Given the description of an element on the screen output the (x, y) to click on. 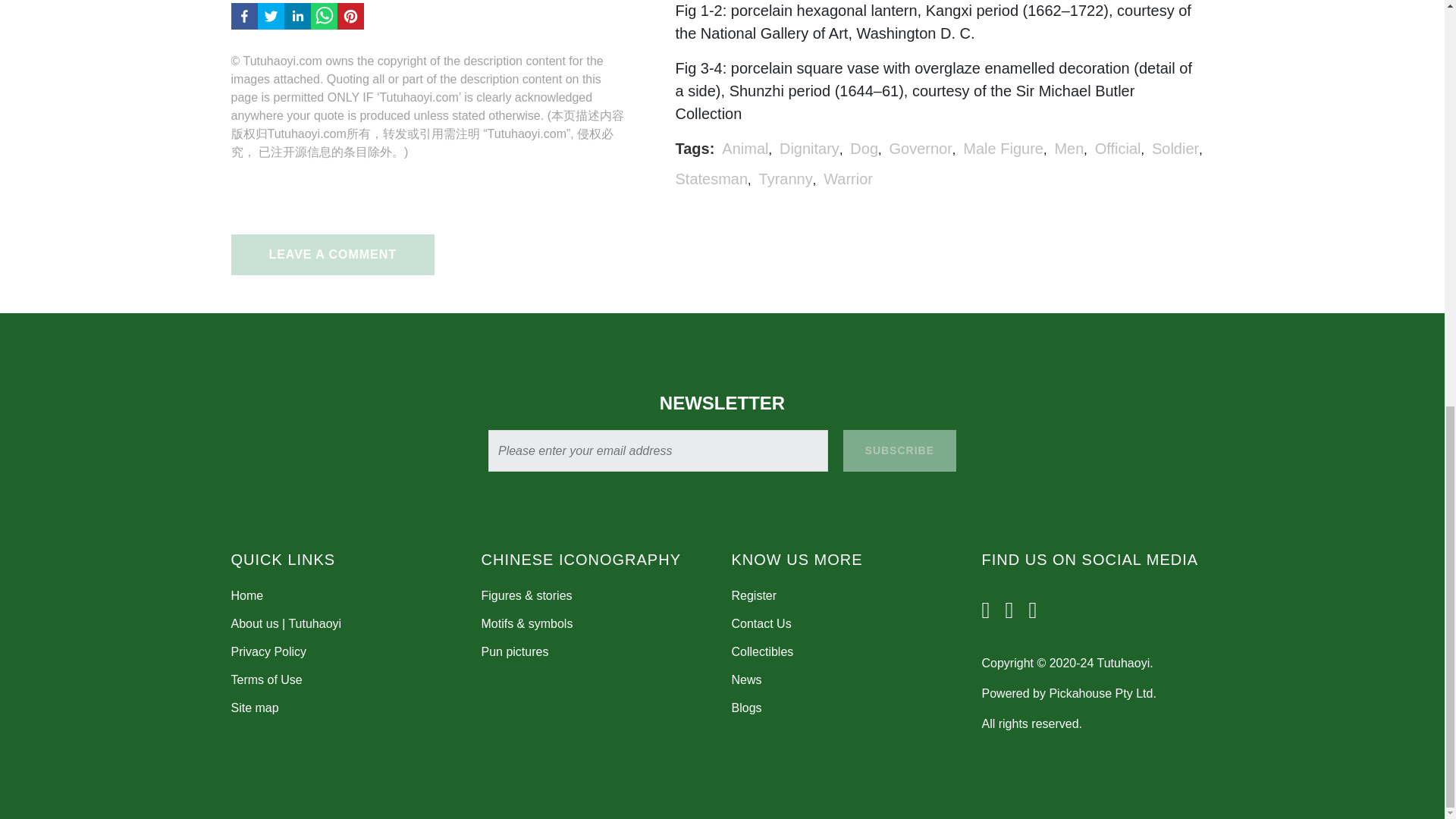
Animal (745, 148)
Warrior (848, 178)
Statesman (711, 178)
LEAVE A COMMENT (331, 254)
Privacy Policy (267, 651)
Men (1068, 148)
Male Figure (1002, 148)
Official (1117, 148)
SUBSCRIBE (899, 450)
Dignitary (809, 148)
